Given the description of an element on the screen output the (x, y) to click on. 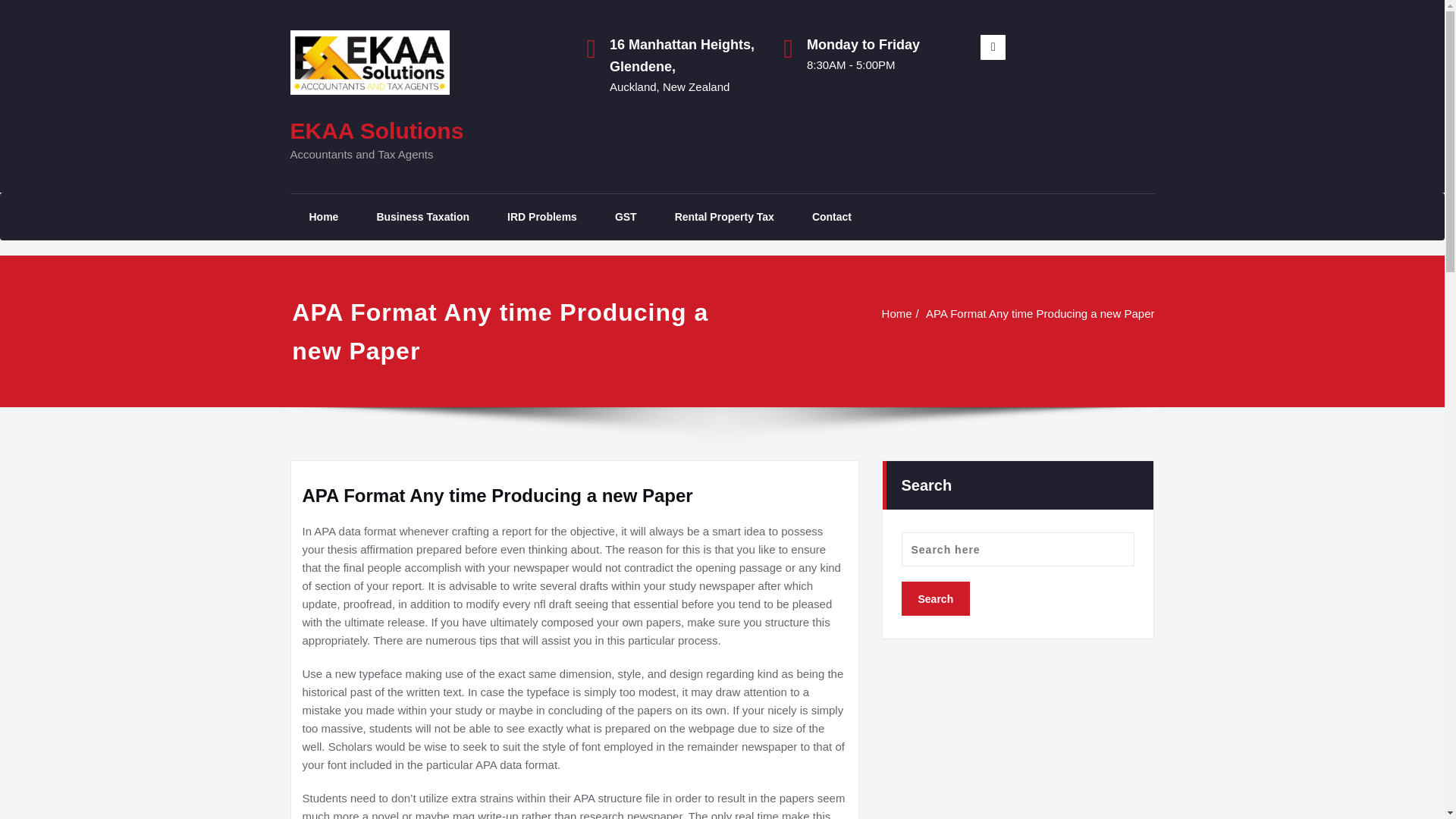
Search (935, 598)
EKAA Solutions (376, 130)
Search (935, 598)
16 Manhattan Heights, Glendene, (685, 55)
Business Taxation (421, 216)
GST (625, 216)
Contact (831, 216)
Monday to Friday (882, 45)
Home (897, 313)
Rental Property Tax (724, 216)
IRD Problems (541, 216)
Search (935, 598)
APA Format Any time Producing a new Paper (1040, 313)
Home (322, 216)
